Given the description of an element on the screen output the (x, y) to click on. 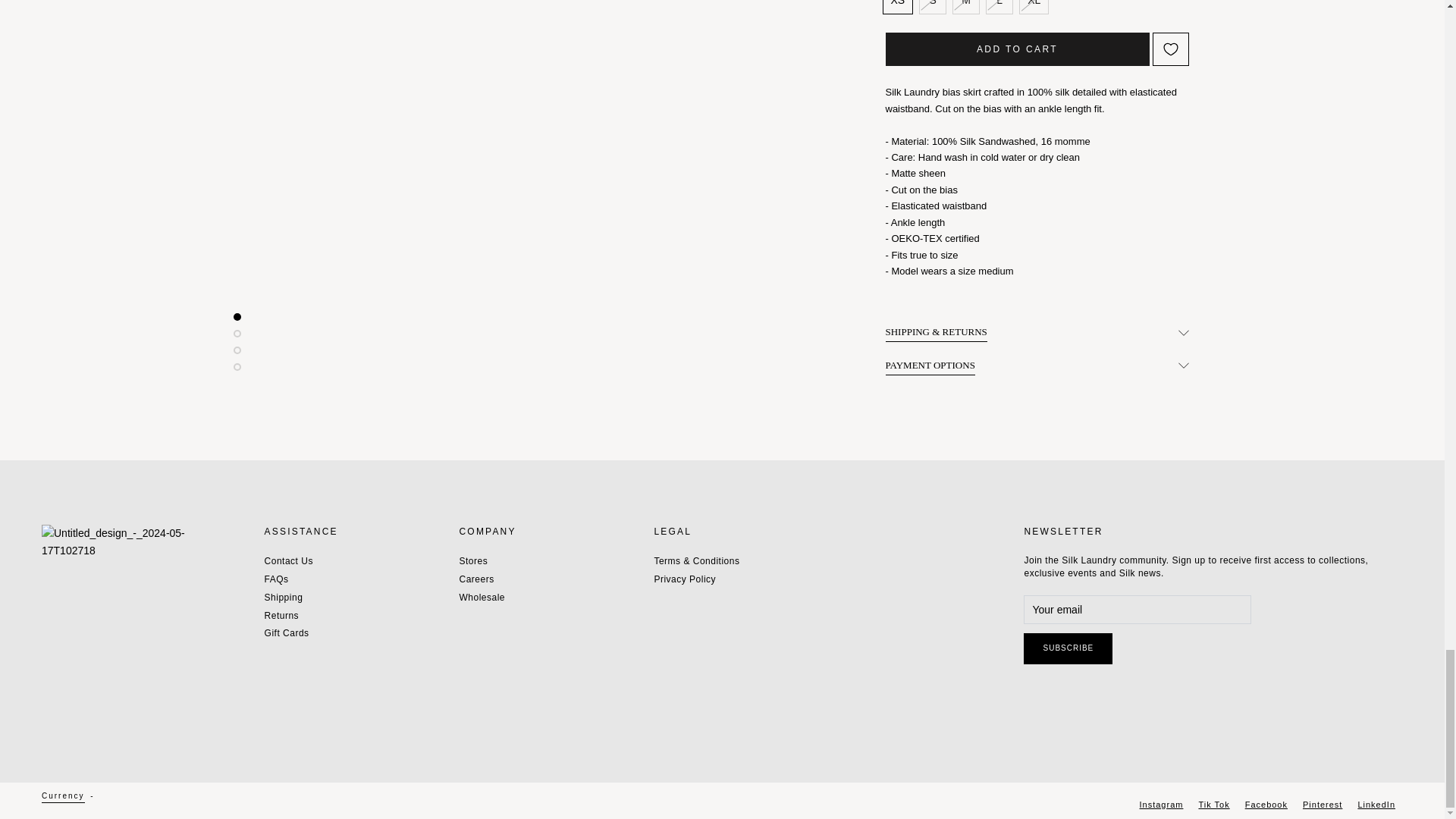
Gift Cards (288, 633)
Wholesale (485, 598)
Instagram (1161, 804)
Pinterest (1322, 804)
LinkedIn (1376, 804)
Privacy Policy (699, 580)
Careers (485, 580)
Returns (288, 616)
Shipping (288, 598)
Stores (485, 561)
FAQs (288, 580)
Contact Us (288, 561)
Tik Tok (1213, 804)
Facebook (1266, 804)
